Given the description of an element on the screen output the (x, y) to click on. 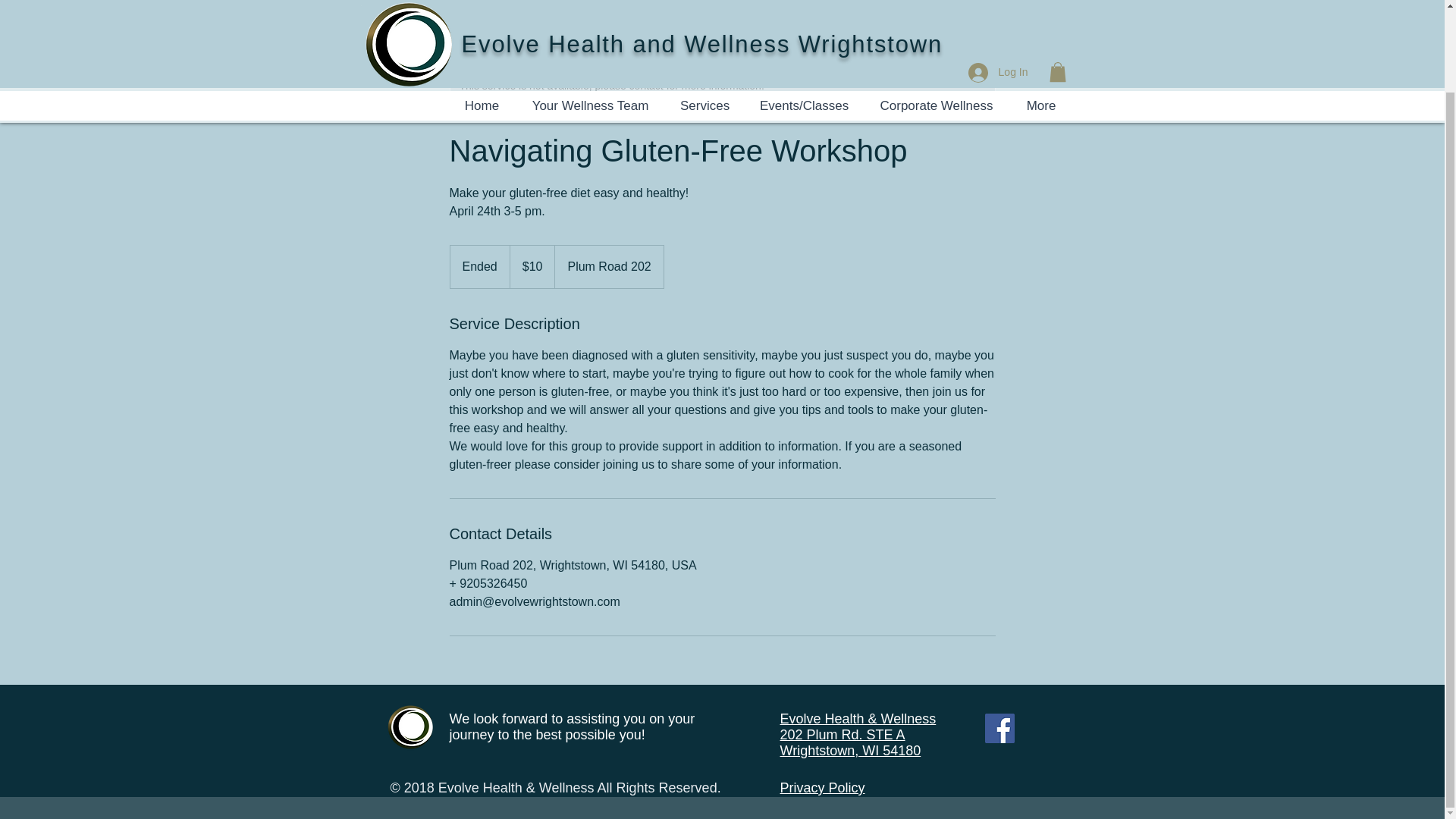
Home (481, 13)
Your Wellness Team (590, 13)
Wrightstown, WI 54180 (849, 750)
Services (704, 13)
202 Plum Rd. STE A (841, 734)
Corporate Wellness (936, 13)
